Given the description of an element on the screen output the (x, y) to click on. 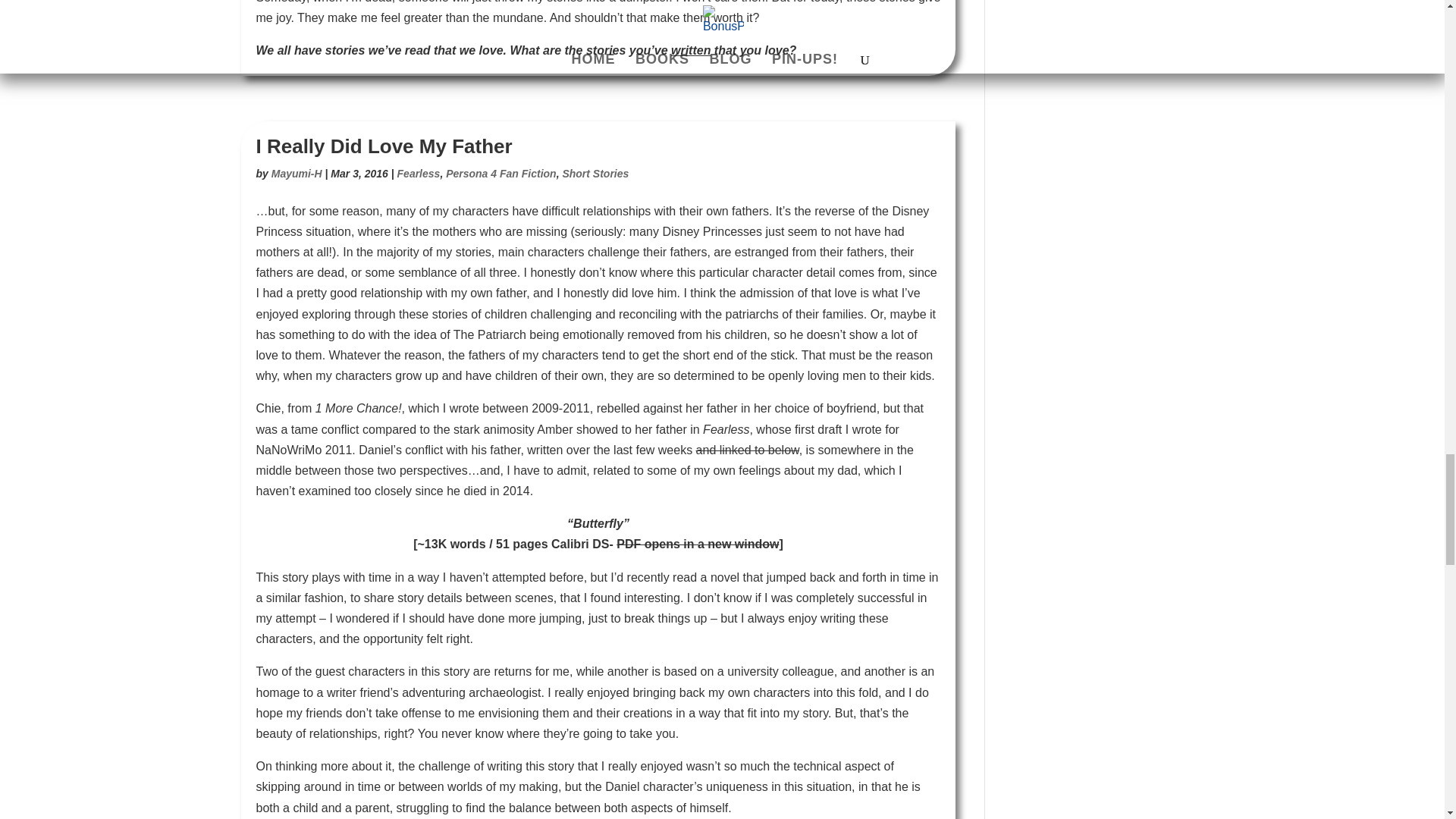
Mayumi-H (295, 173)
Short Stories (595, 173)
Fearless (419, 173)
Posts by Mayumi-H (295, 173)
I Really Did Love My Father (384, 146)
Persona 4 Fan Fiction (500, 173)
